Given the description of an element on the screen output the (x, y) to click on. 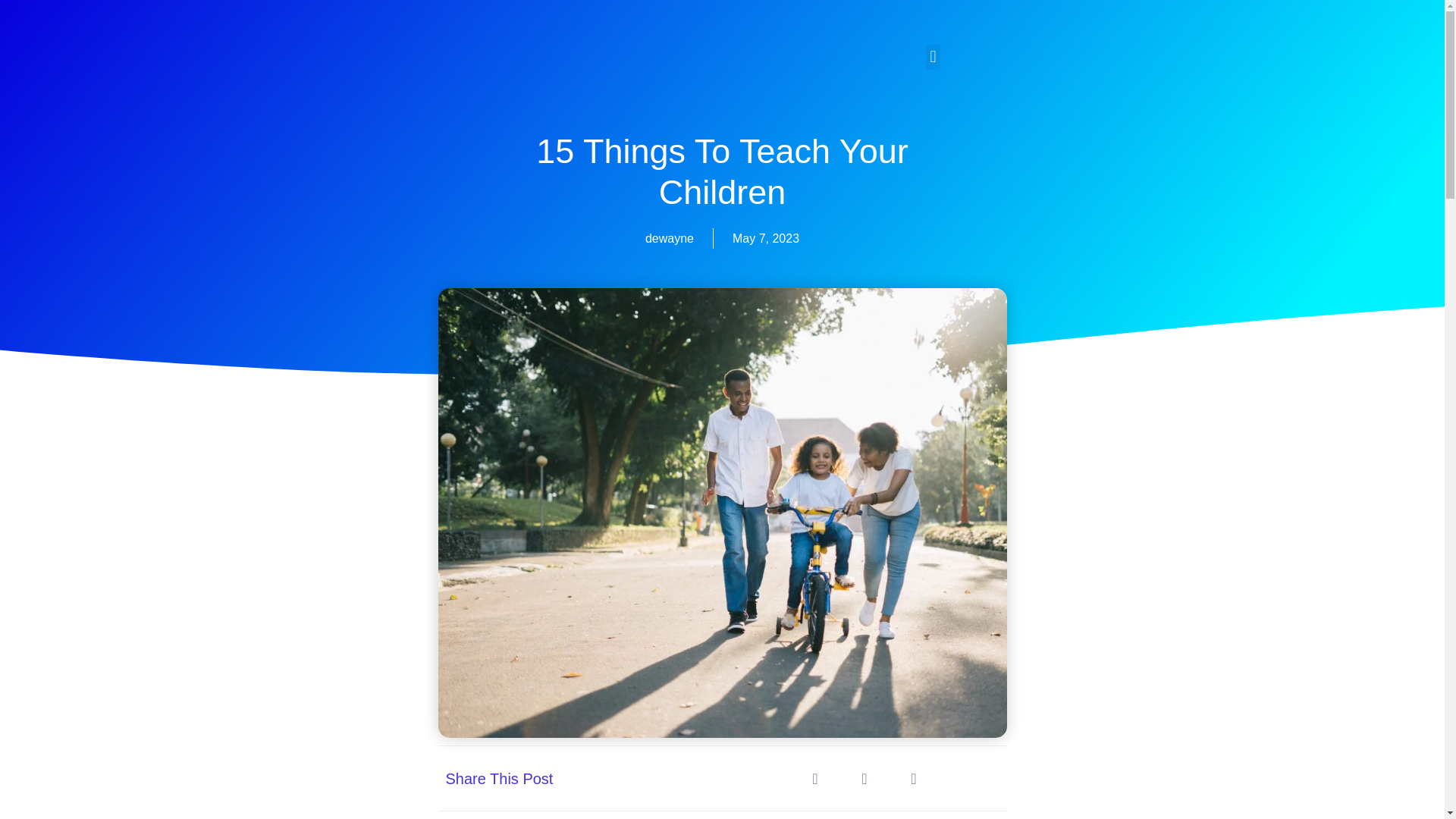
dewayne (669, 237)
May 7, 2023 (765, 237)
